Given the description of an element on the screen output the (x, y) to click on. 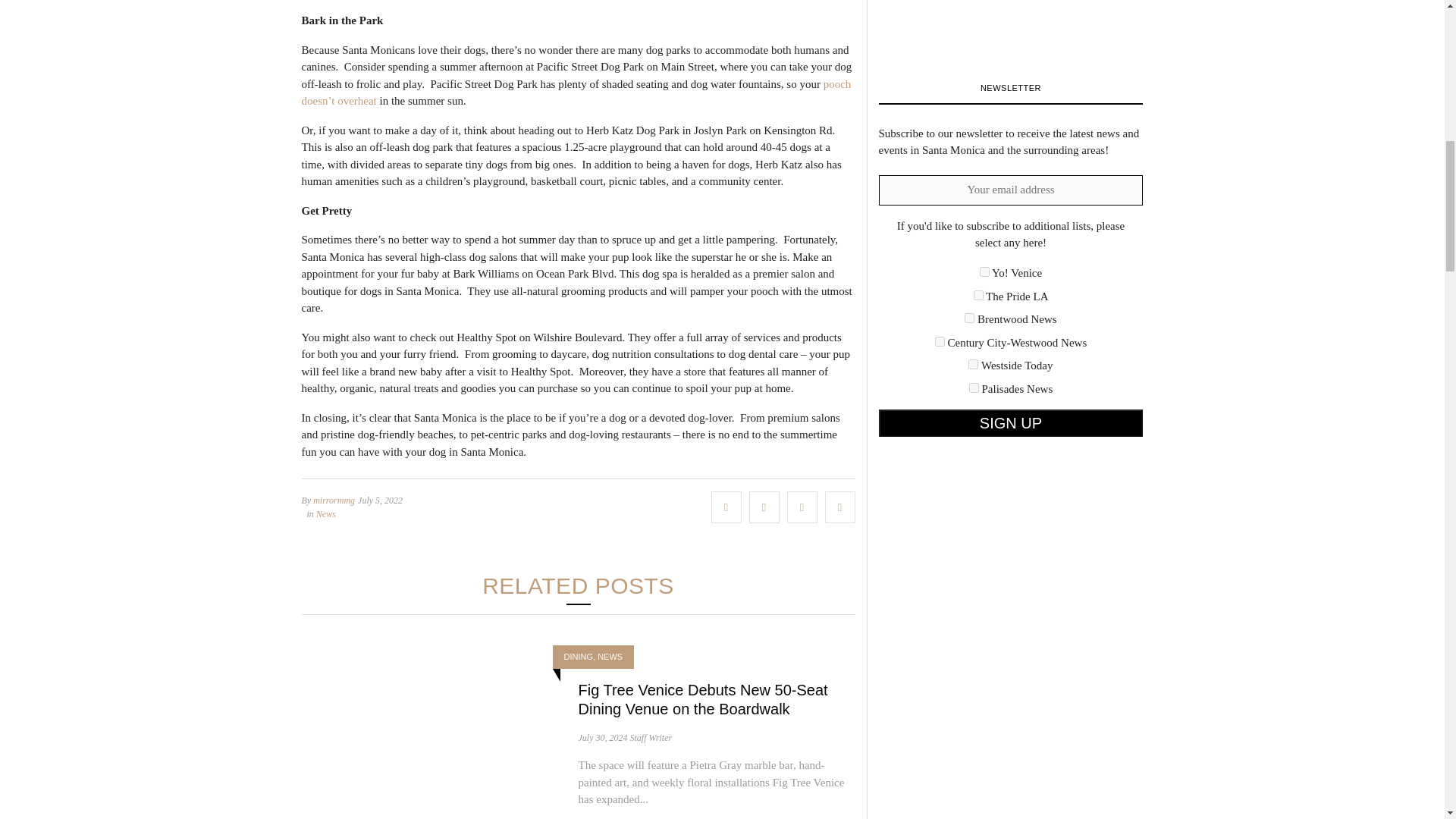
a3d1b6d535 (973, 364)
News (325, 513)
2c616d28b5 (984, 271)
Posts by mirrormmg (334, 500)
mirrormmg (334, 500)
382281a661 (968, 317)
5fac618226 (939, 341)
Sign up (1009, 422)
ec7d882848 (973, 388)
Posts by Staff Writer (649, 737)
33f79e7e4d (979, 295)
